Given the description of an element on the screen output the (x, y) to click on. 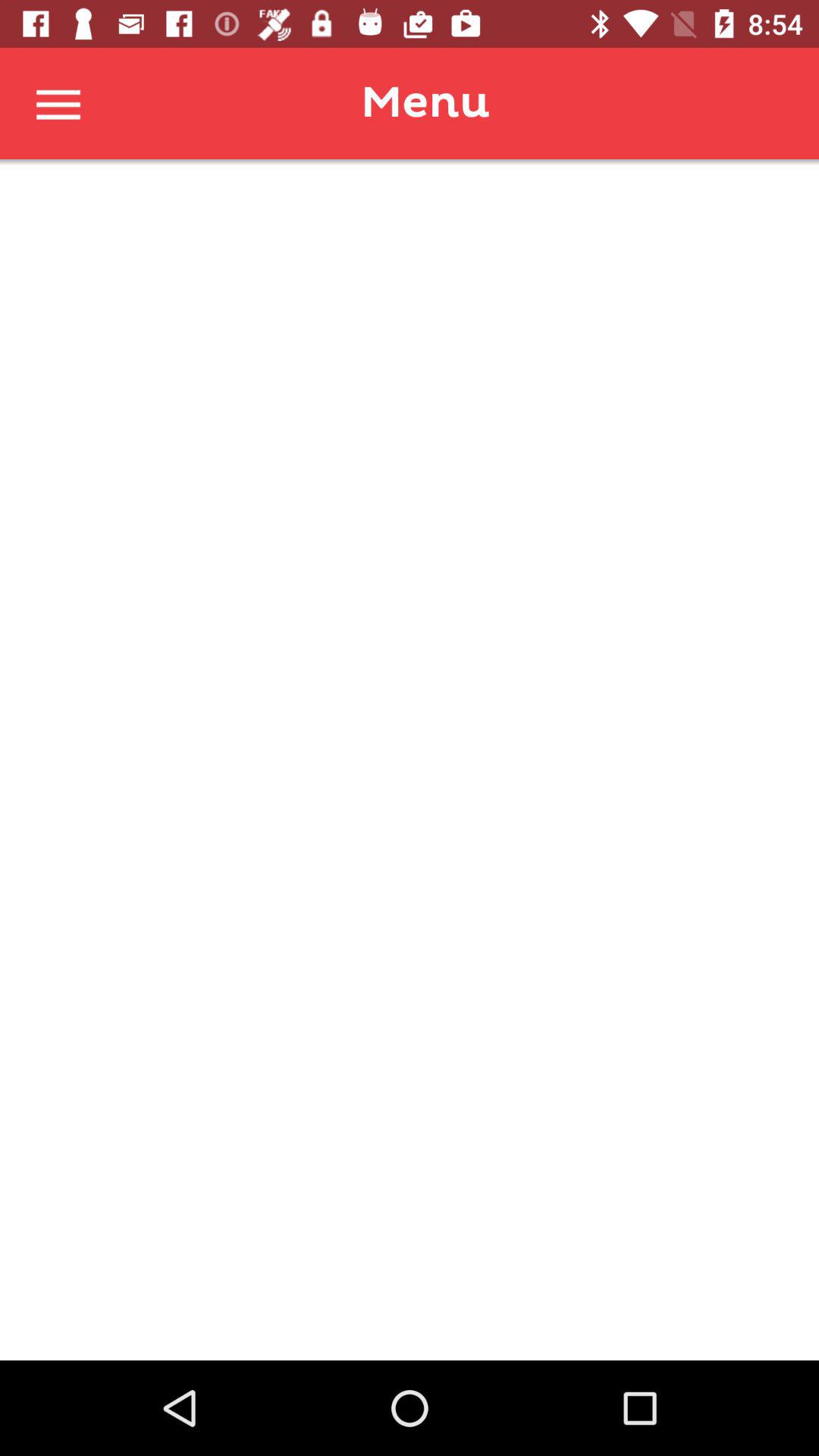
select item at the center (409, 759)
